Given the description of an element on the screen output the (x, y) to click on. 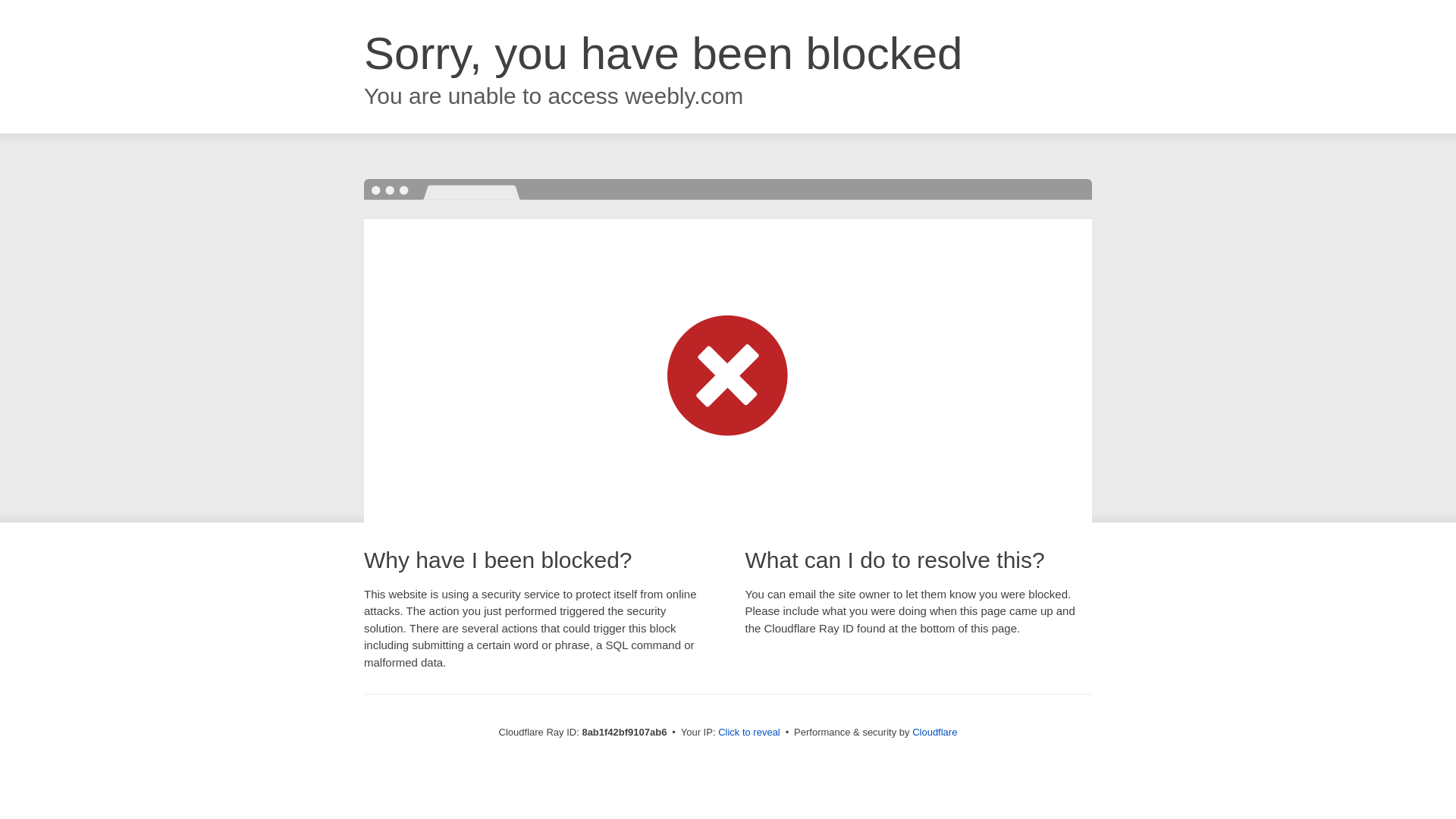
Click to reveal (748, 732)
Cloudflare (934, 731)
